Given the description of an element on the screen output the (x, y) to click on. 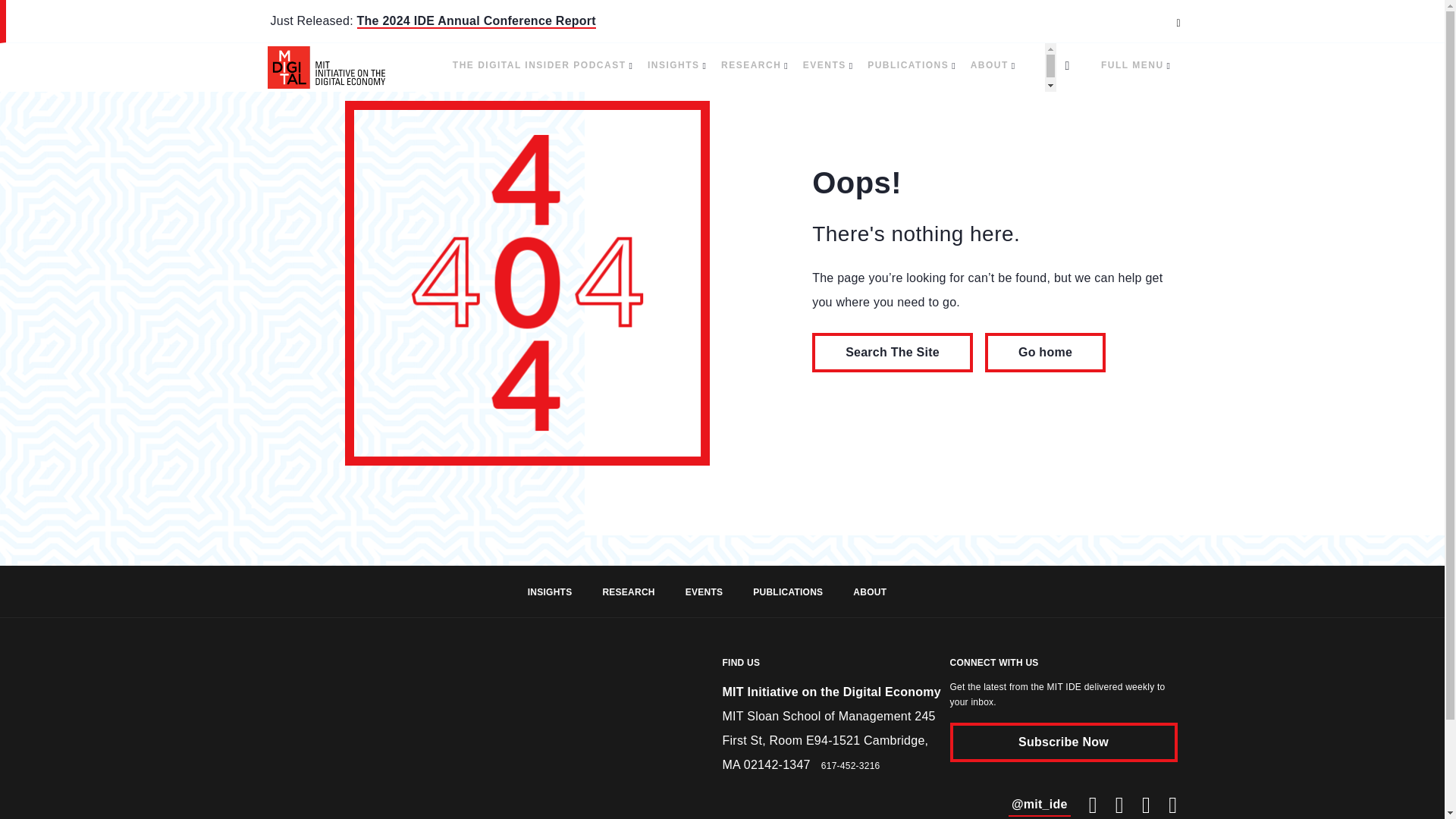
EVENTS (827, 65)
PUBLICATIONS (911, 65)
THE DIGITAL INSIDER PODCAST (541, 65)
The 2024 IDE Annual Conference Report (475, 21)
INSIGHTS (676, 65)
RESEARCH (753, 65)
